Given the description of an element on the screen output the (x, y) to click on. 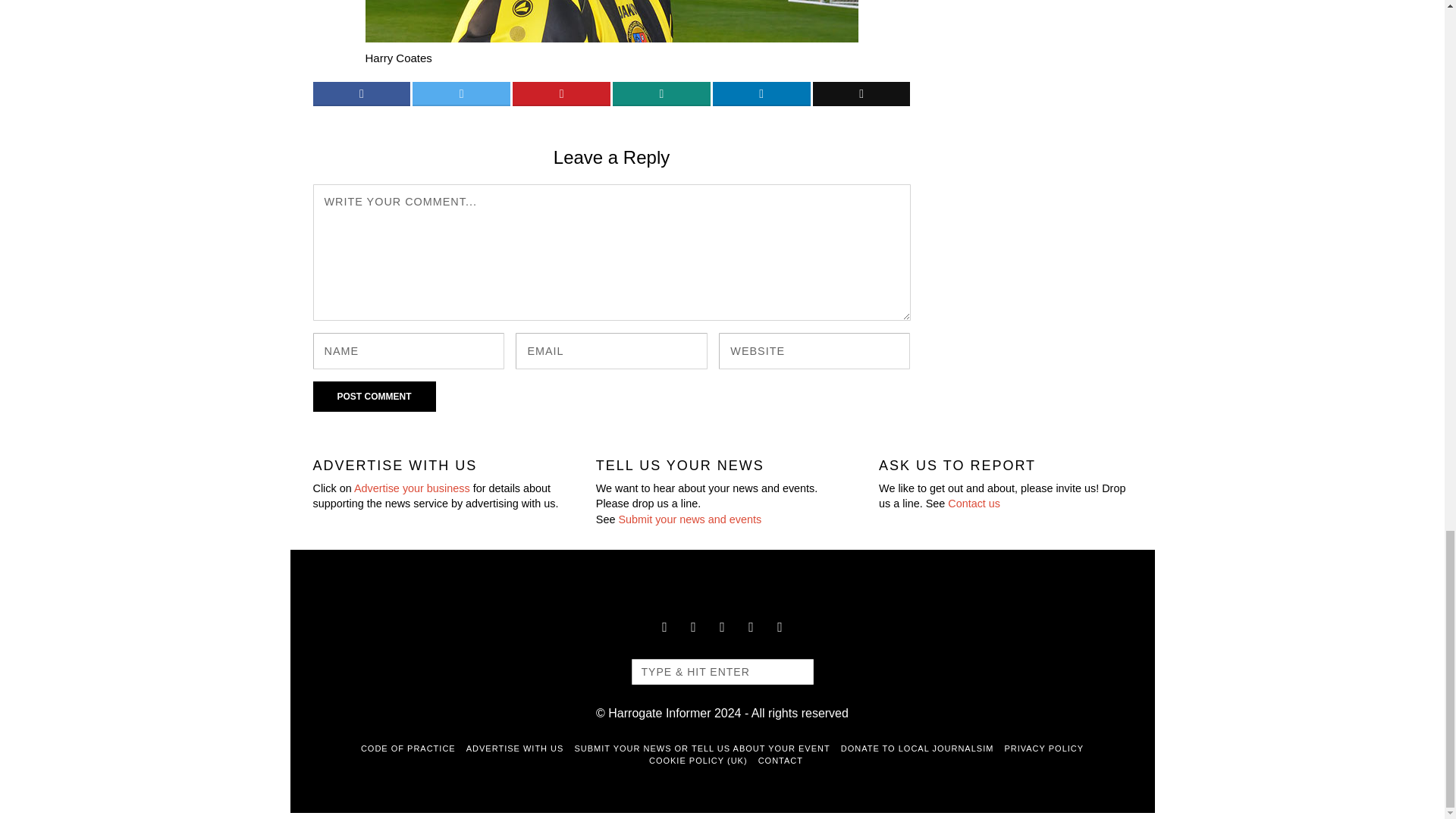
Post Comment (374, 396)
Submit your news and events (689, 518)
Advertise your business (411, 488)
Go (794, 671)
Post Comment (374, 396)
Contact us (973, 503)
